Given the description of an element on the screen output the (x, y) to click on. 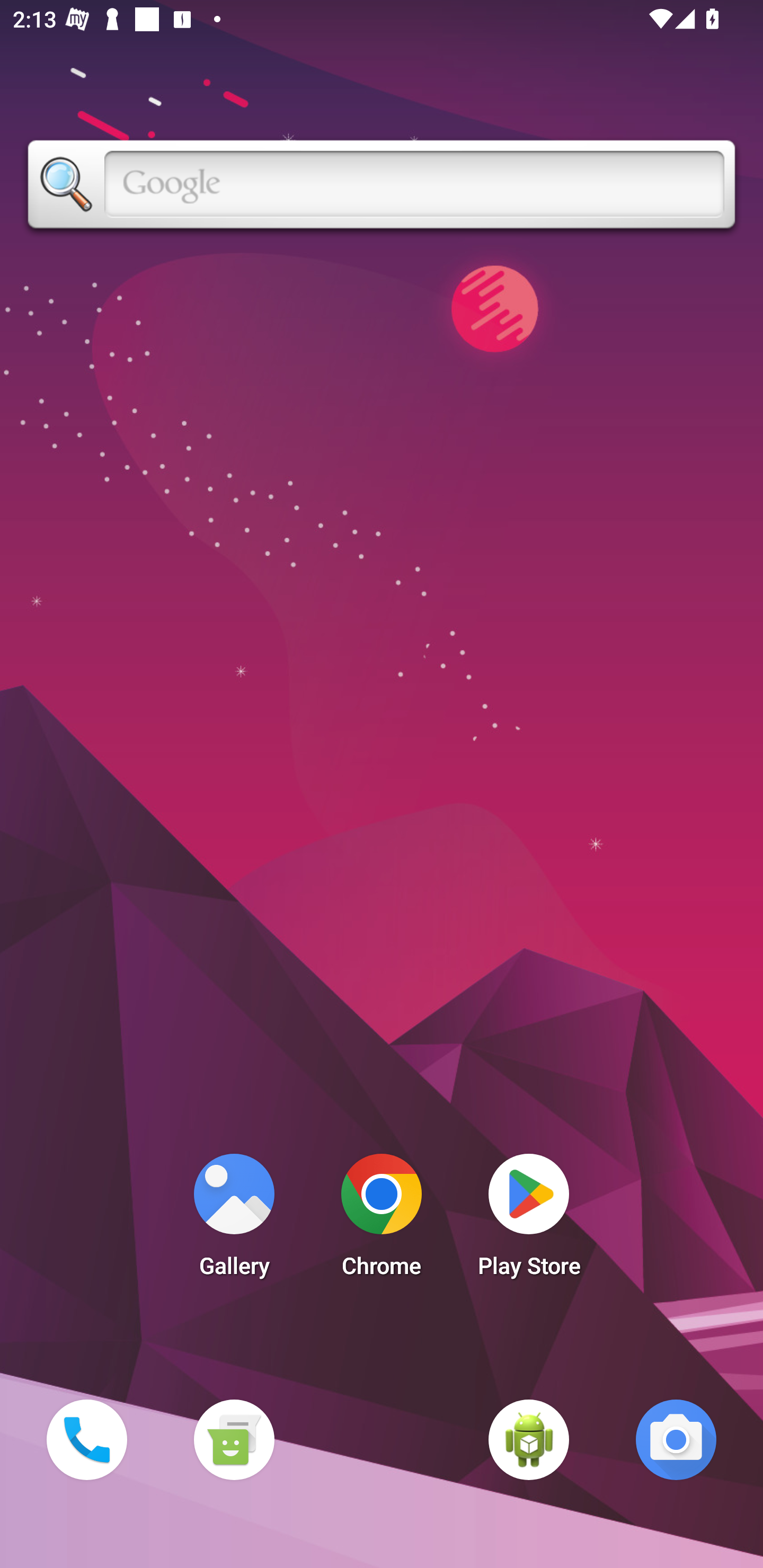
Gallery (233, 1220)
Chrome (381, 1220)
Play Store (528, 1220)
Phone (86, 1439)
Messaging (233, 1439)
WebView Browser Tester (528, 1439)
Camera (676, 1439)
